Given the description of an element on the screen output the (x, y) to click on. 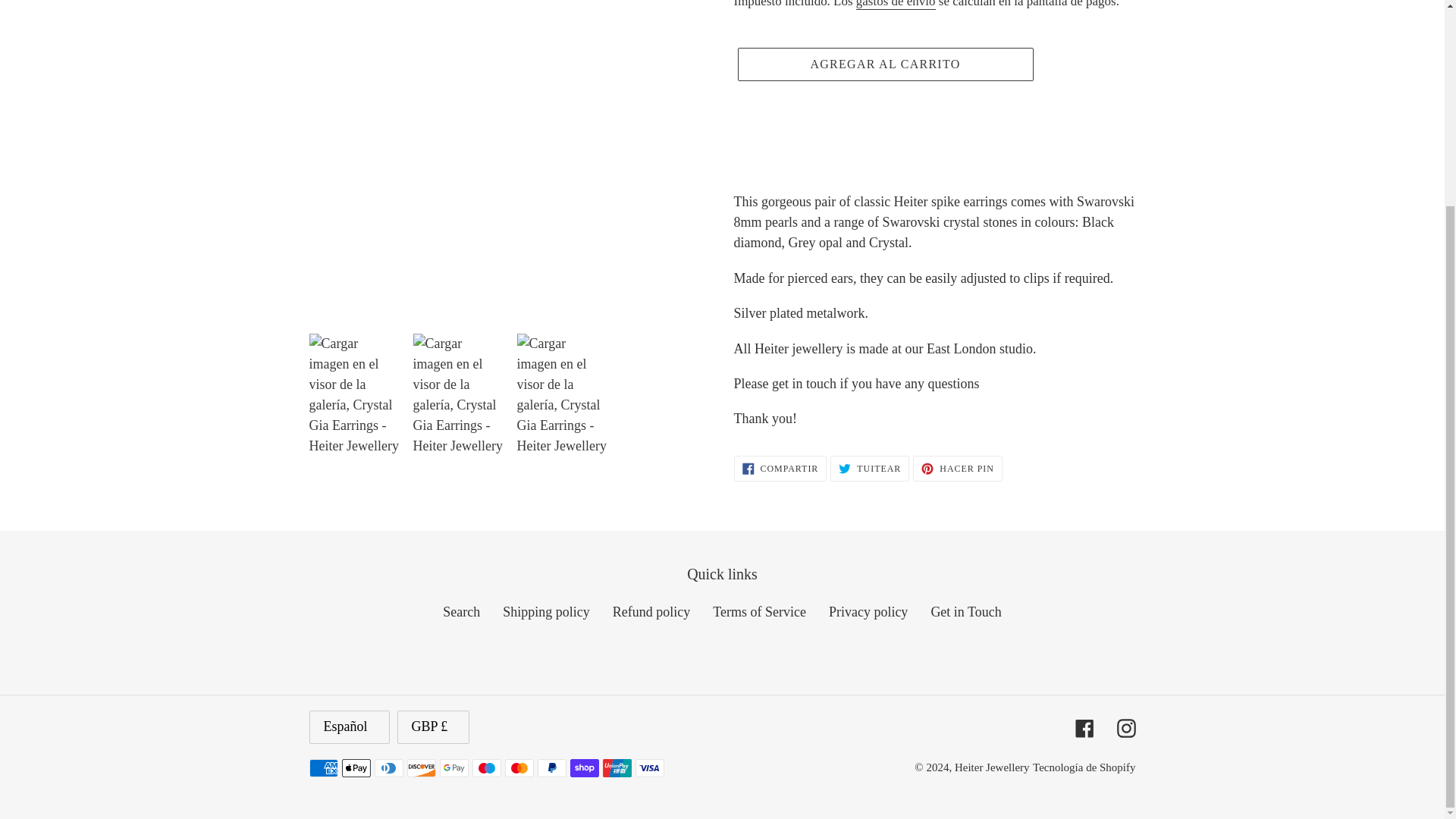
Search (868, 468)
AGREGAR AL CARRITO (461, 611)
Refund policy (957, 468)
Shipping policy (780, 468)
Terms of Service (884, 64)
